Given the description of an element on the screen output the (x, y) to click on. 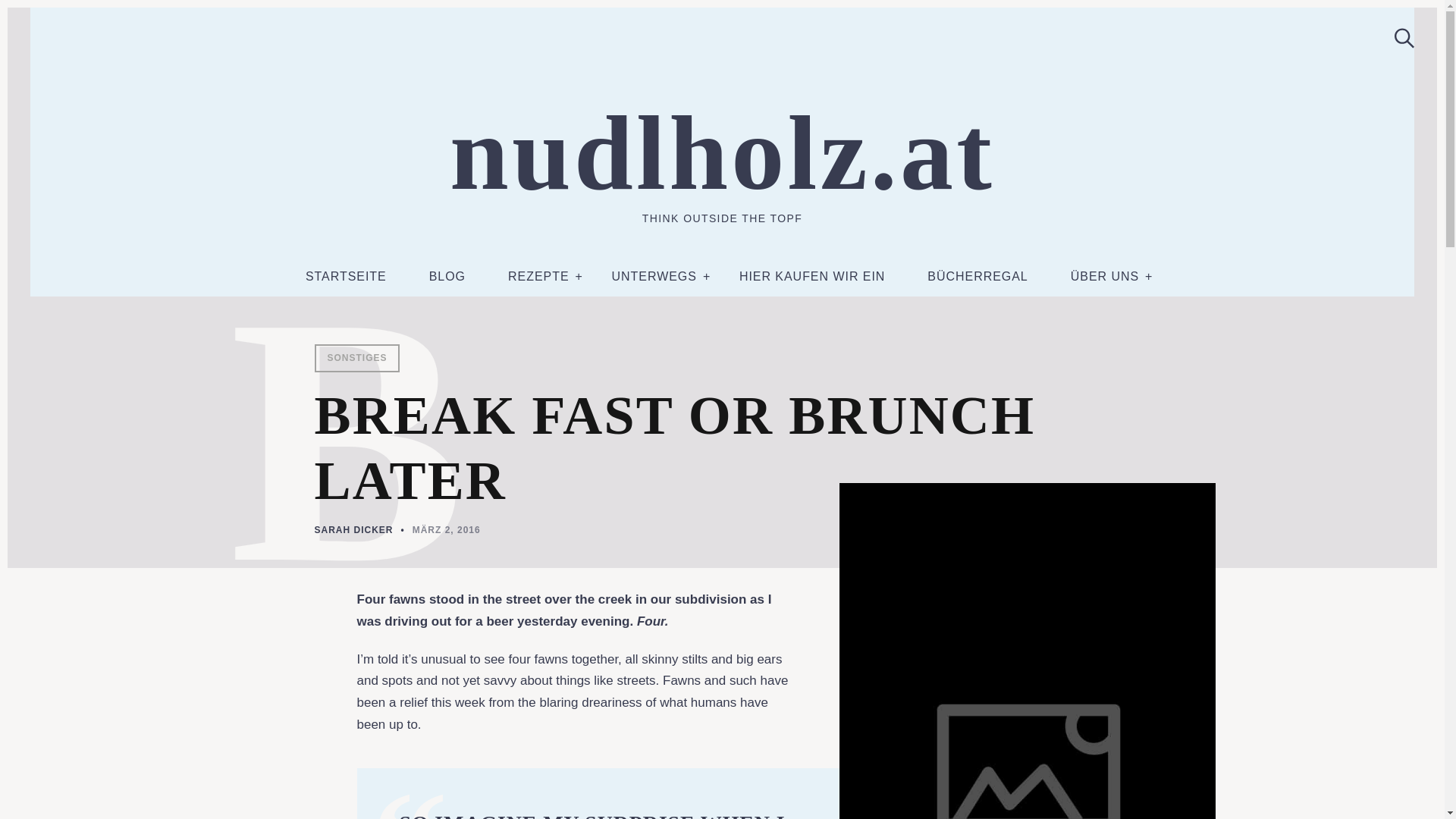
Search (1398, 37)
HIER KAUFEN WIR EIN (812, 276)
REZEPTE (538, 276)
nudlholz.at (721, 152)
STARTSEITE (346, 276)
Sonstiges (356, 357)
UNTERWEGS (654, 276)
SARAH DICKER (353, 529)
SONSTIGES (356, 357)
BLOG (447, 276)
